Given the description of an element on the screen output the (x, y) to click on. 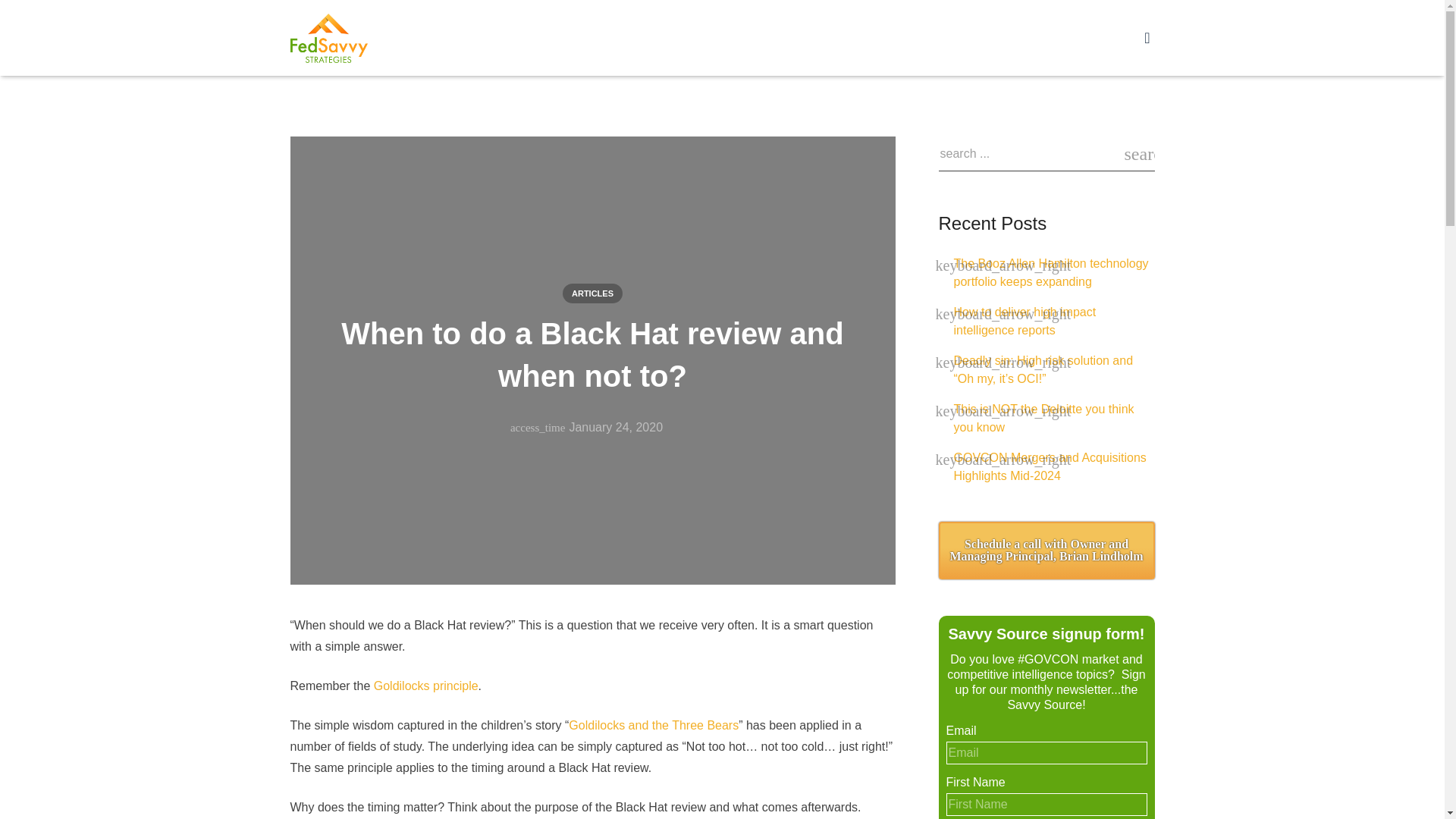
ARTICLES (592, 293)
Goldilocks and the Three Bears (653, 725)
Goldilocks principle (426, 685)
